Given the description of an element on the screen output the (x, y) to click on. 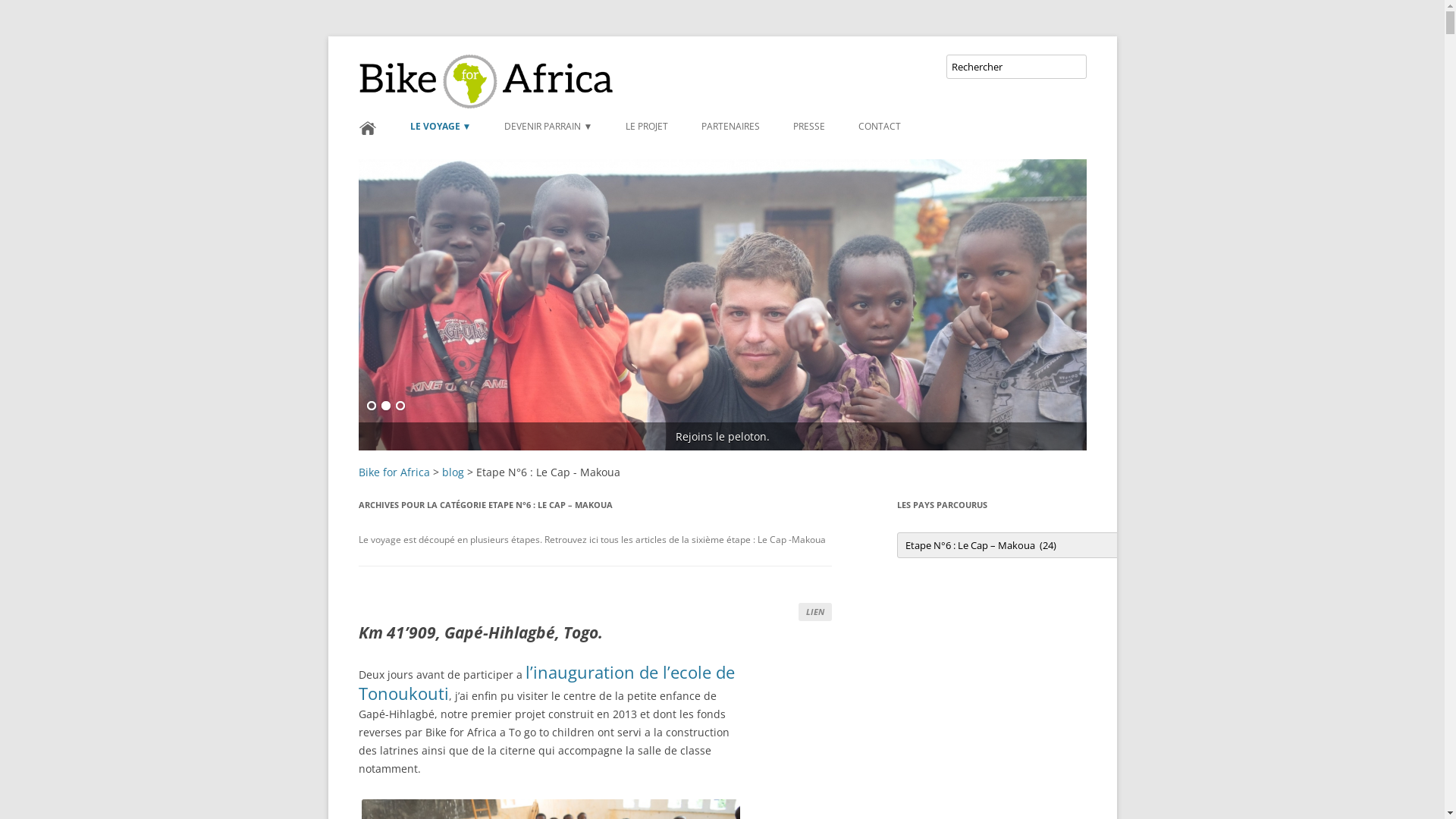
Aller au contenu principal Element type: text (644, 109)
blog Element type: text (452, 471)
PARTENAIRES Element type: text (730, 126)
Bike for Africa Element type: text (393, 471)
CONTACT Element type: text (879, 126)
Nous avons besoin de toi Element type: hover (721, 304)
Bike for Africa Element type: text (427, 72)
PRESSE Element type: text (809, 126)
LE PROJET Element type: text (646, 126)
